Given the description of an element on the screen output the (x, y) to click on. 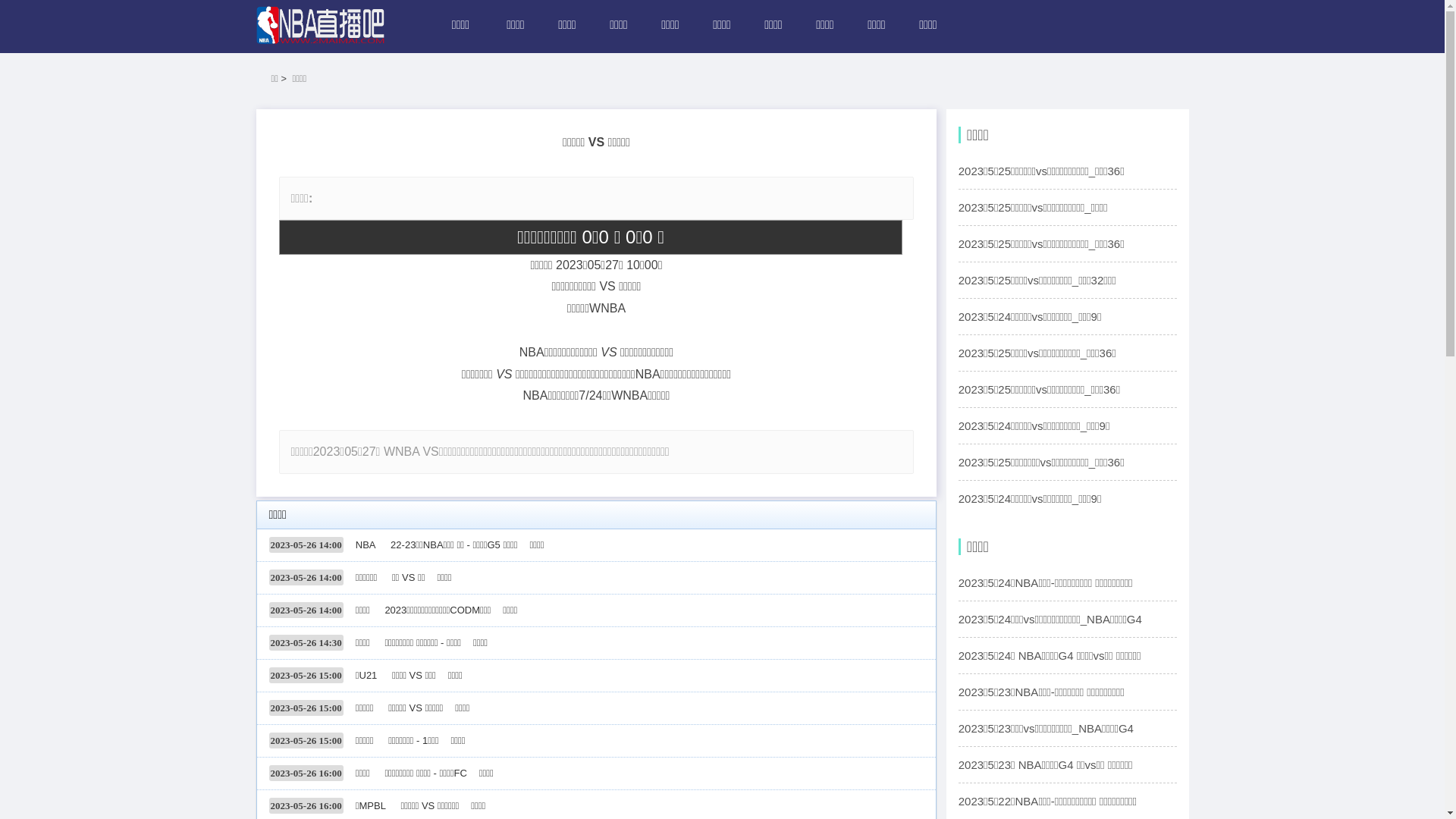
NBA Element type: text (365, 544)
